Given the description of an element on the screen output the (x, y) to click on. 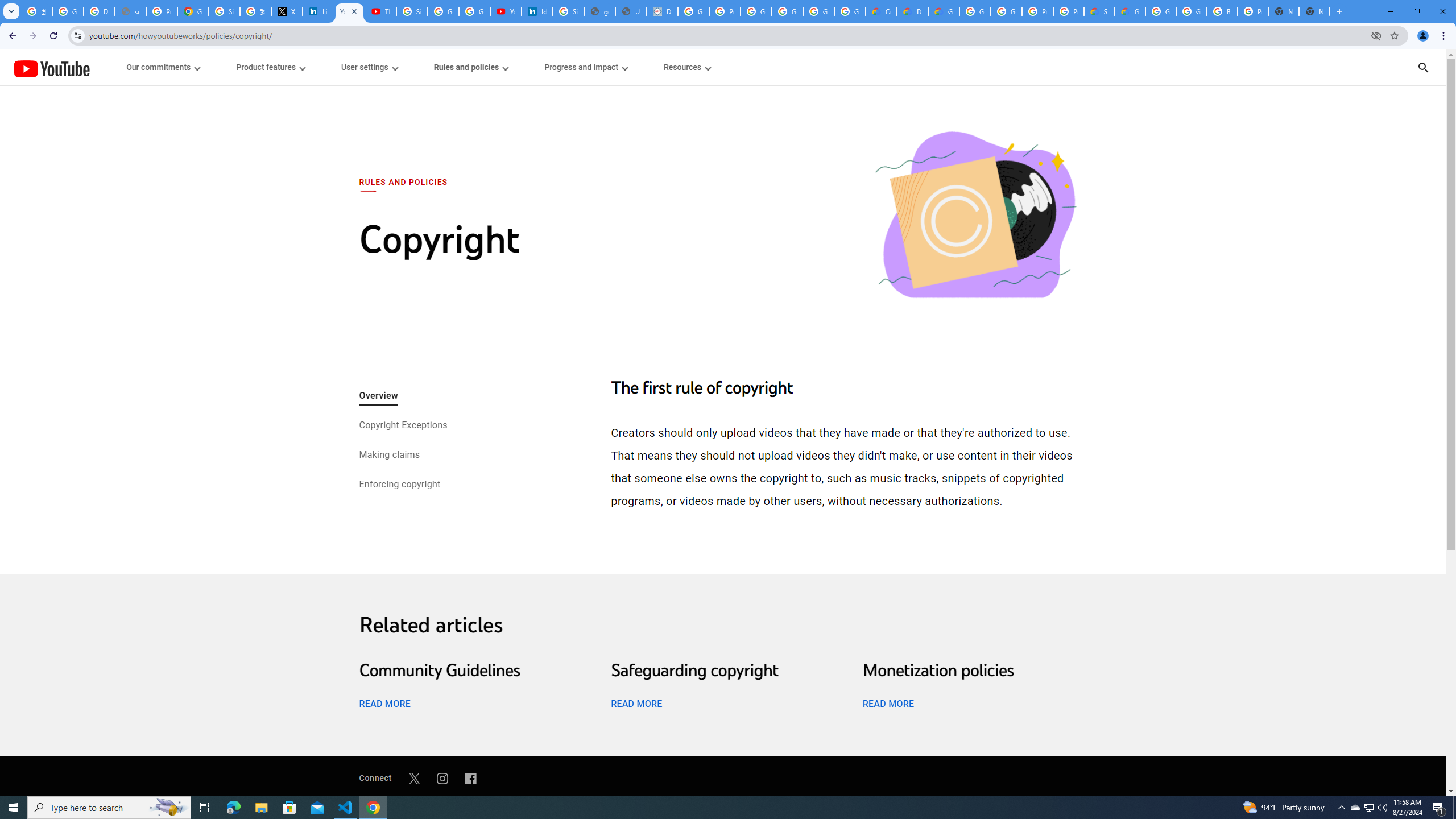
Sign in - Google Accounts (223, 11)
Copyright Exceptions (402, 425)
Making claims (389, 455)
Sign in - Google Accounts (411, 11)
Facebook (470, 778)
